Given the description of an element on the screen output the (x, y) to click on. 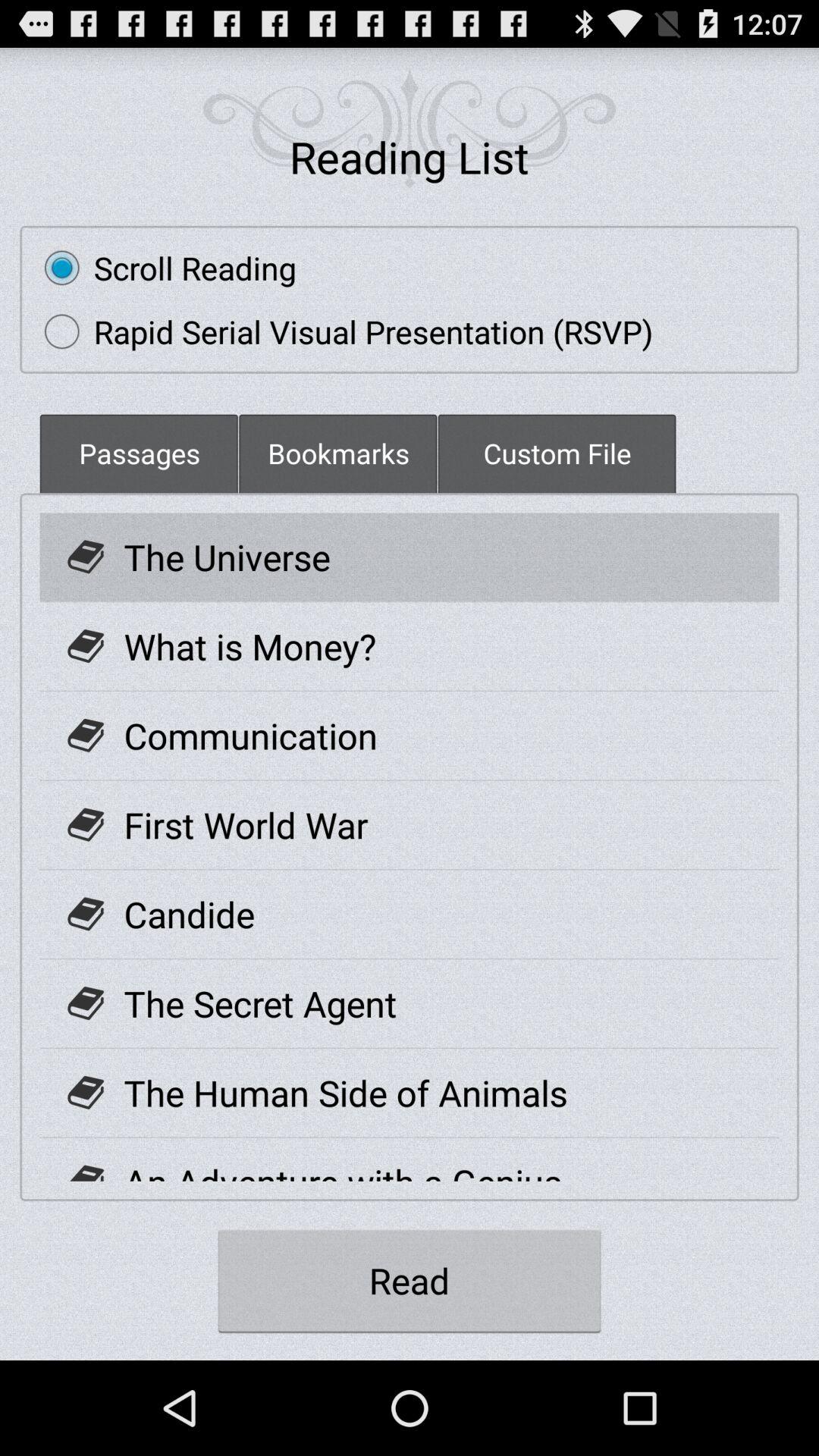
tap the icon below communication icon (245, 824)
